Given the description of an element on the screen output the (x, y) to click on. 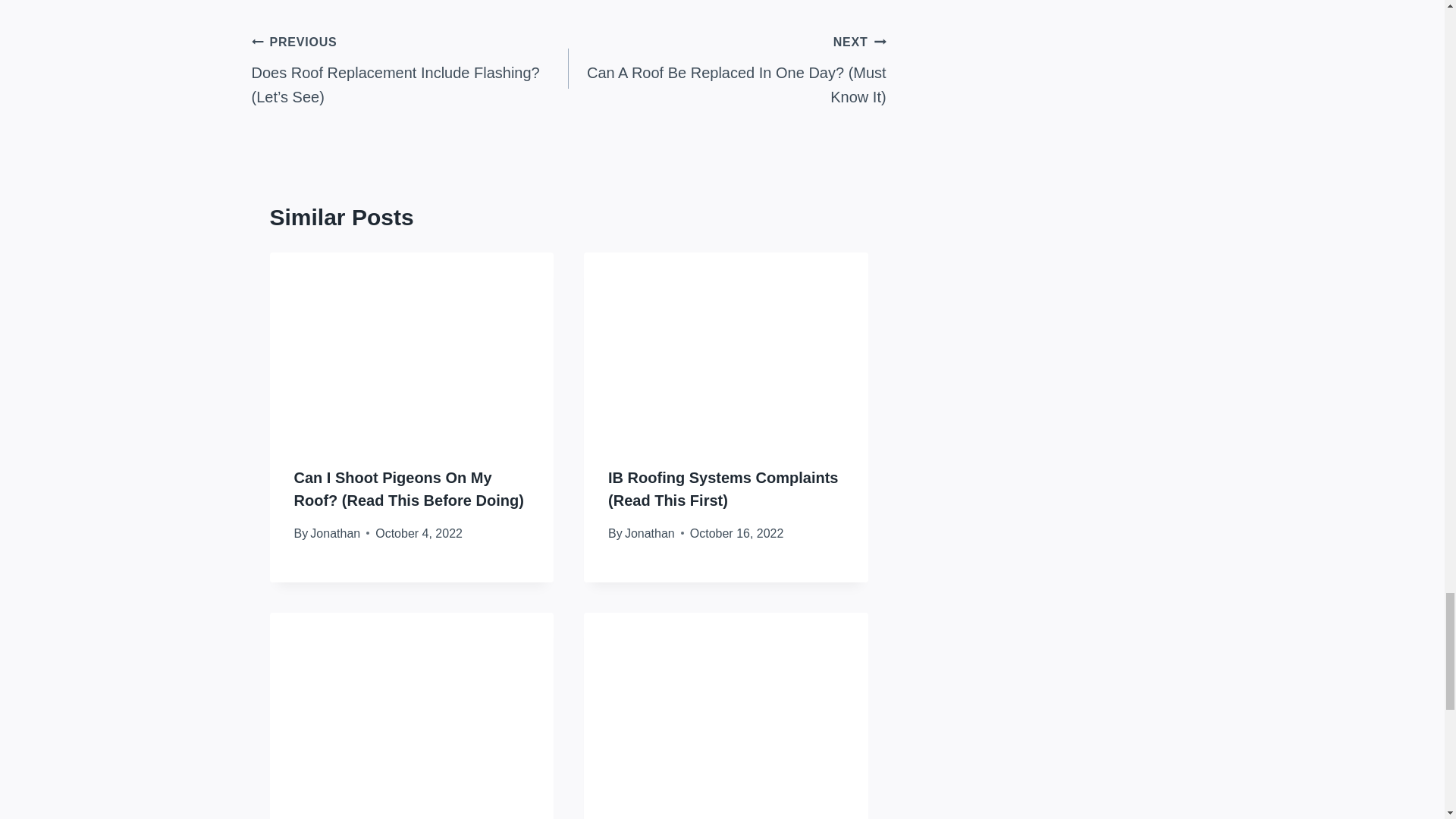
Jonathan (334, 533)
Jonathan (649, 533)
